Given the description of an element on the screen output the (x, y) to click on. 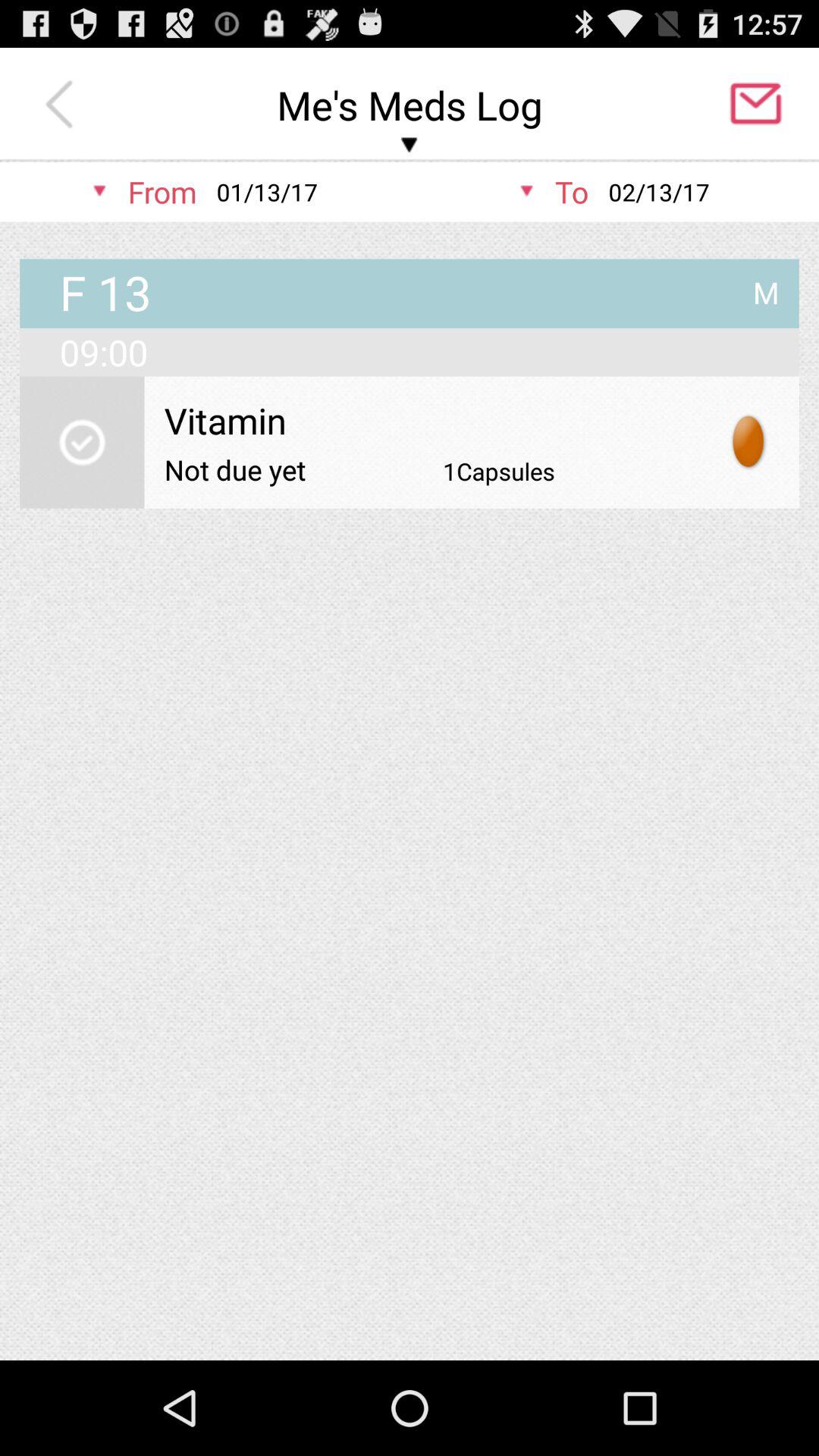
jump to m item (766, 286)
